Given the description of an element on the screen output the (x, y) to click on. 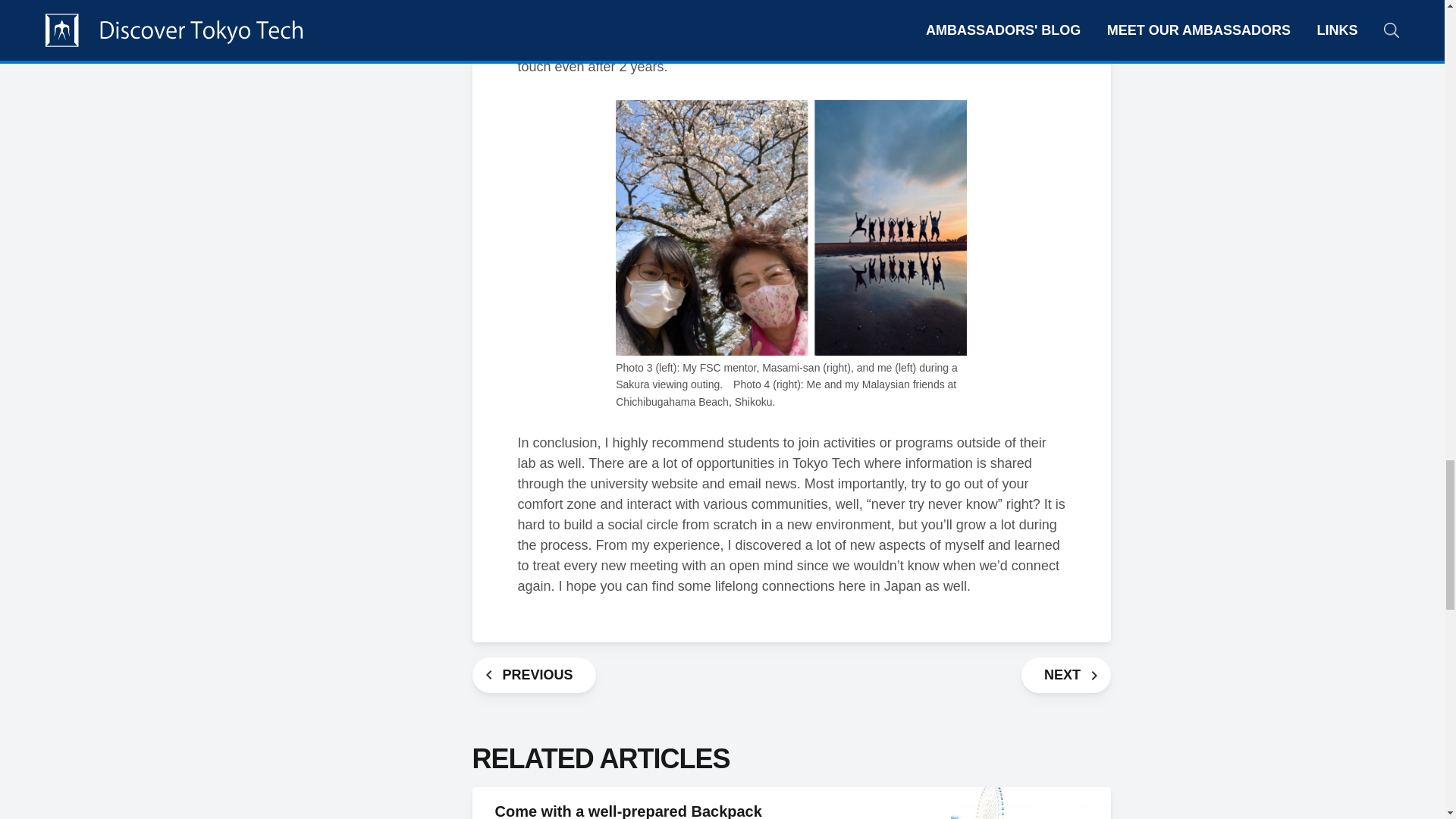
Come with a well-prepared Backpack (628, 811)
PREVIOUS (533, 674)
NEXT (1066, 674)
